Given the description of an element on the screen output the (x, y) to click on. 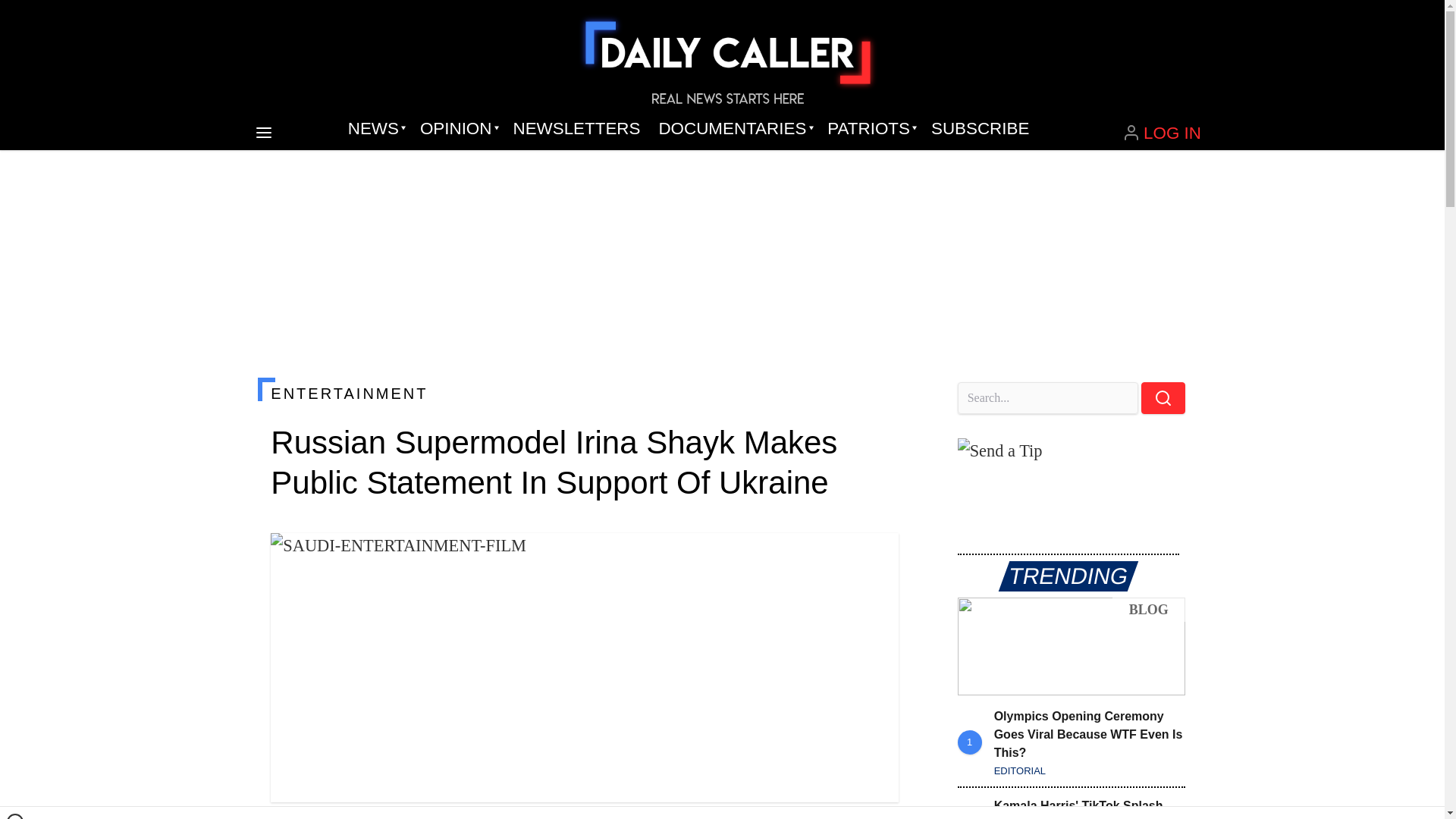
DOCUMENTARIES (733, 128)
SUBSCRIBE (979, 128)
PATRIOTS (869, 128)
NEWS (374, 128)
ENTERTAINMENT (584, 393)
NEWSLETTERS (576, 128)
Toggle fullscreen (874, 556)
OPINION (456, 128)
Close window (14, 816)
